Given the description of an element on the screen output the (x, y) to click on. 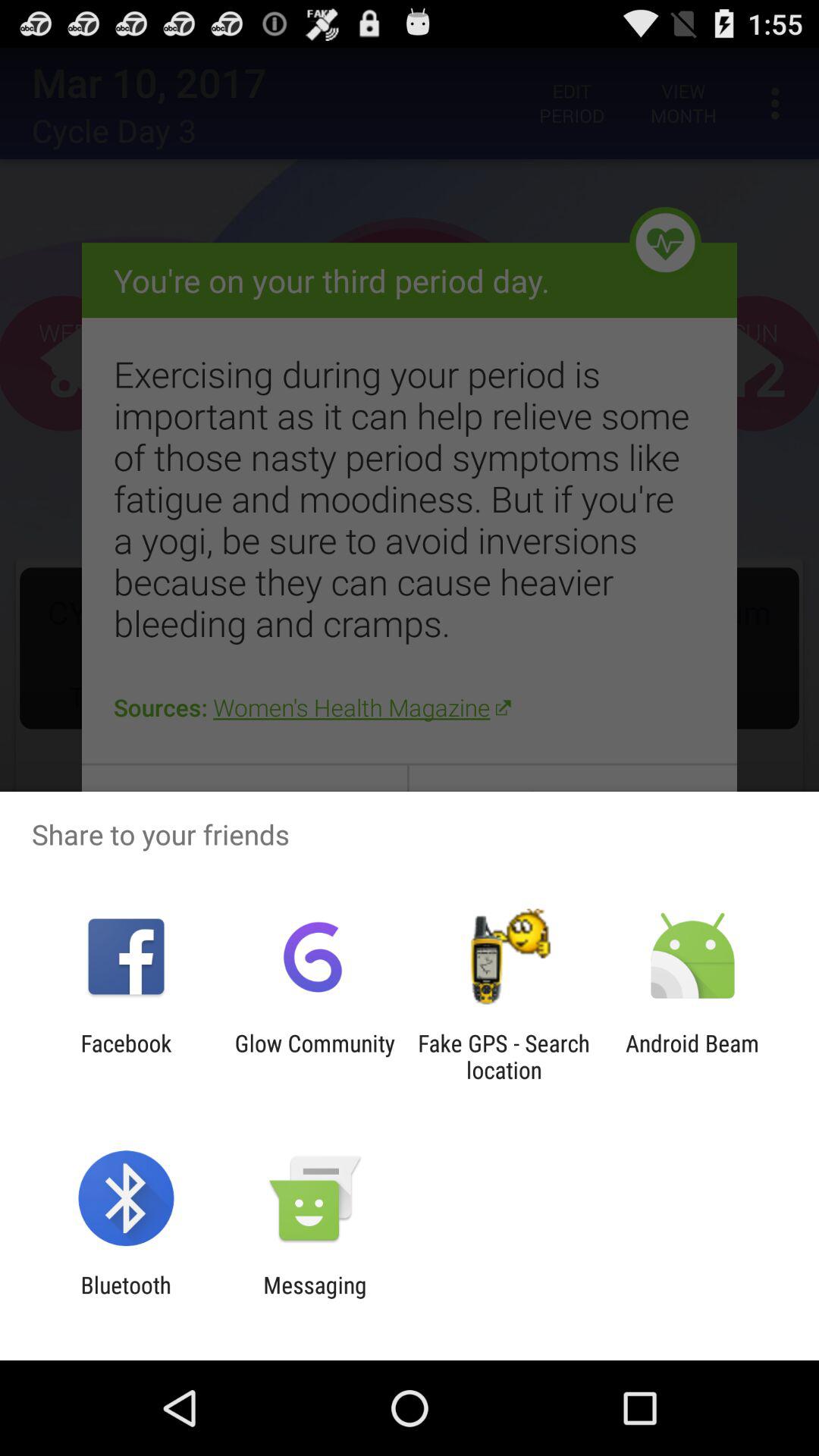
press the item to the right of facebook app (314, 1056)
